Given the description of an element on the screen output the (x, y) to click on. 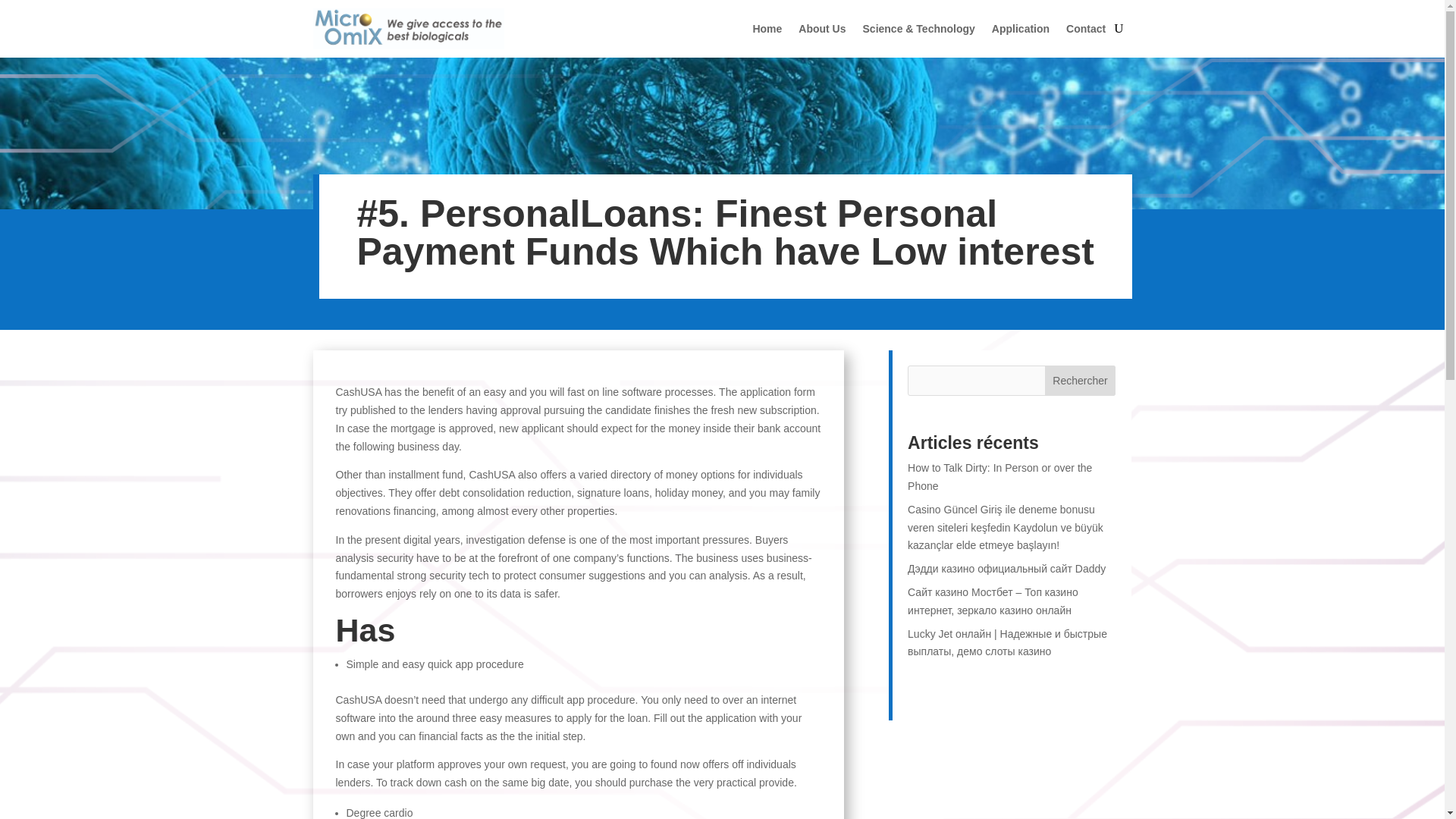
Contact (1085, 28)
About Us (821, 28)
Rechercher (1080, 380)
Home (766, 28)
How to Talk Dirty: In Person or over the Phone (999, 476)
Application (1020, 28)
